Given the description of an element on the screen output the (x, y) to click on. 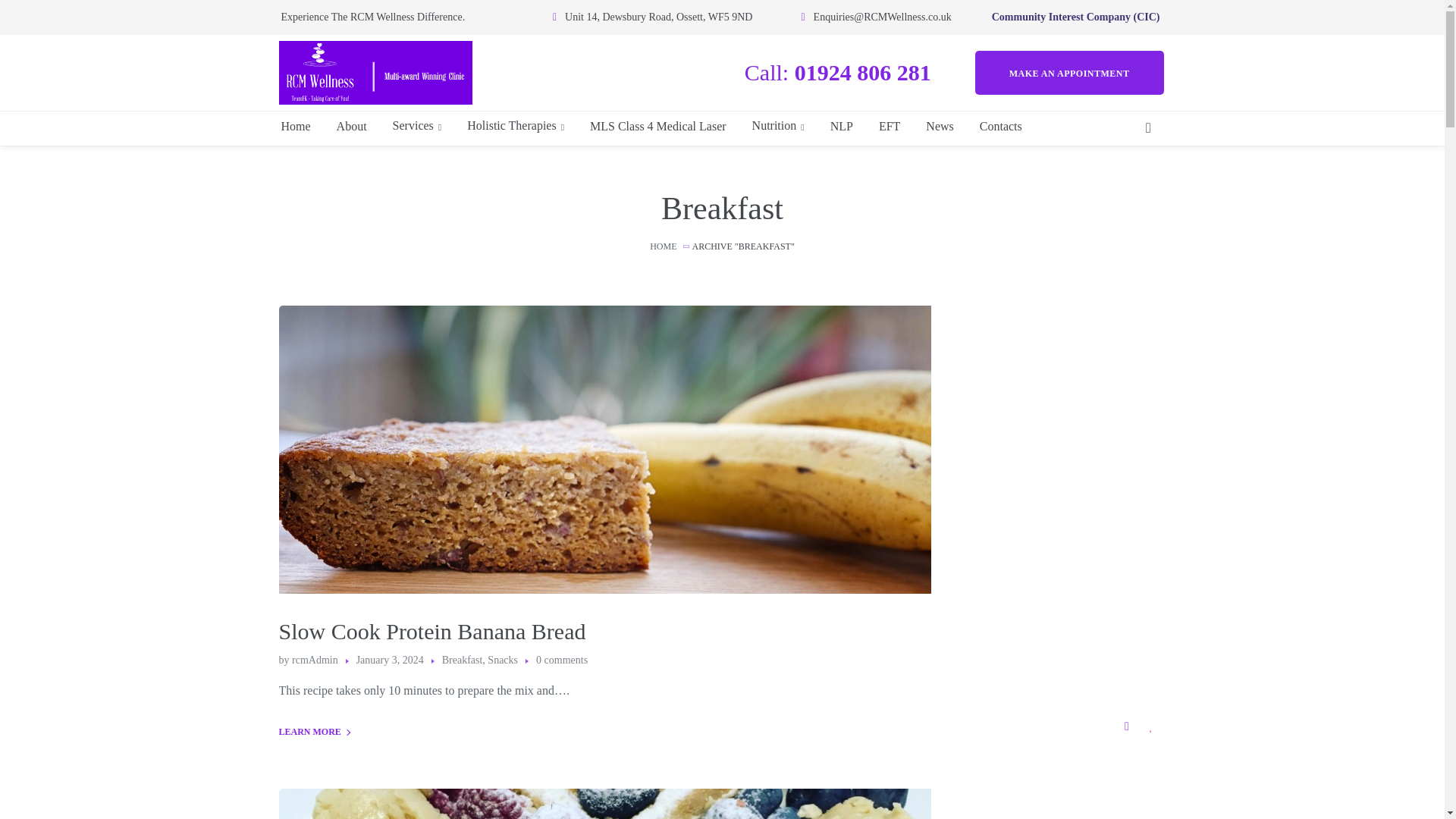
MAKE AN APPOINTMENT (1069, 72)
0 Likes (1153, 725)
About (351, 126)
Services (417, 125)
Home (294, 126)
